Given the description of an element on the screen output the (x, y) to click on. 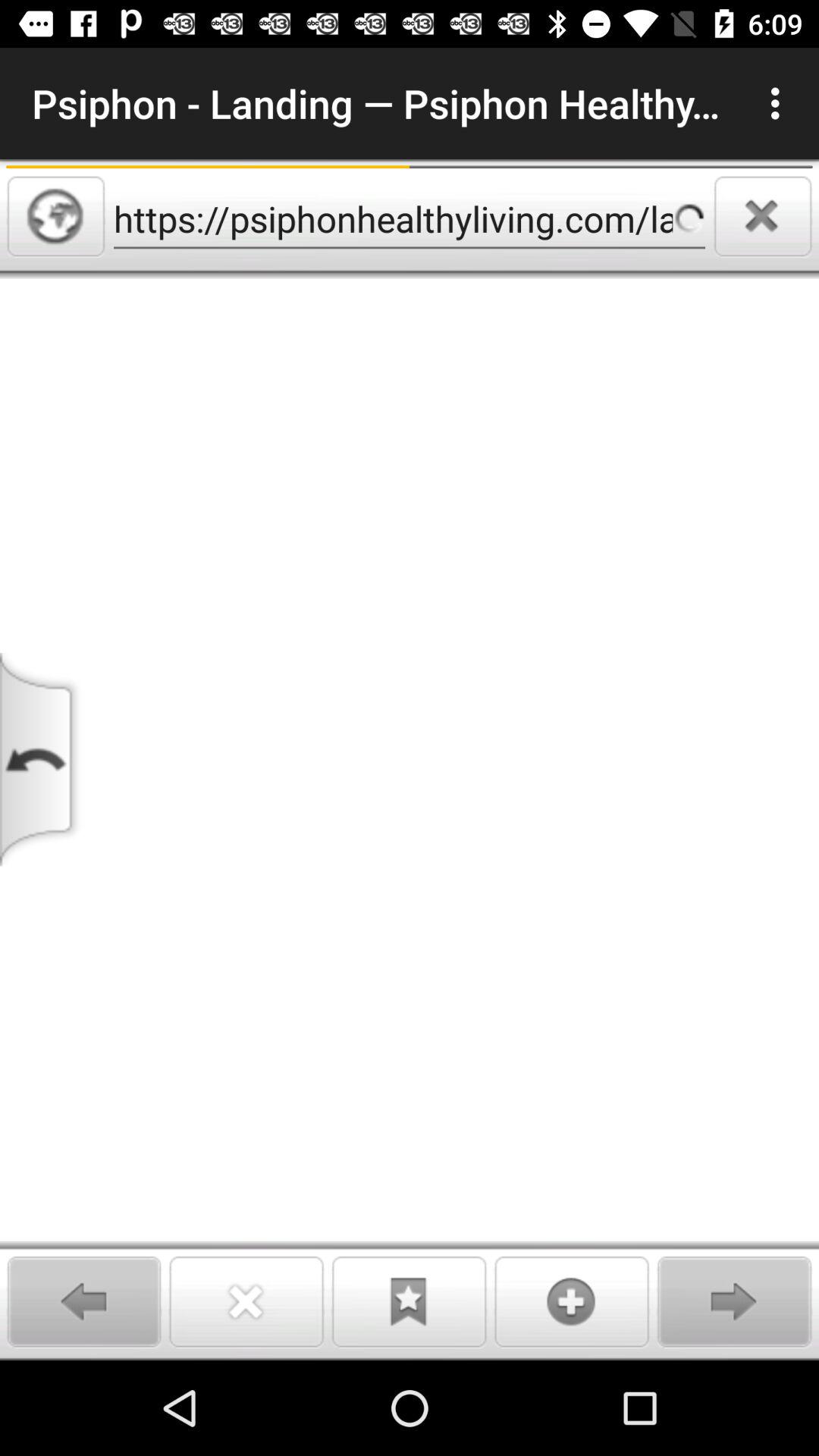
article area (409, 819)
